Given the description of an element on the screen output the (x, y) to click on. 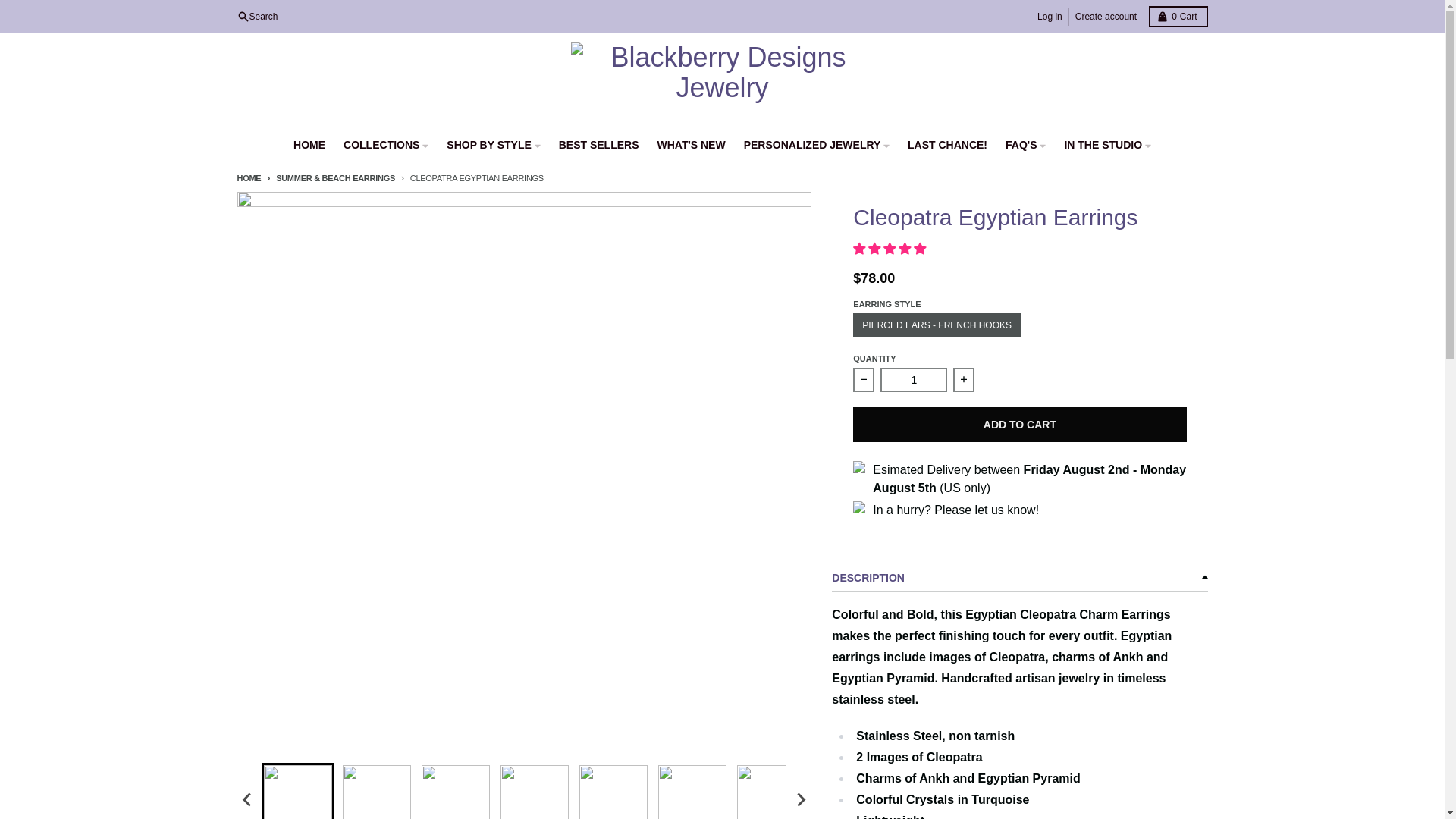
Log in (1049, 16)
Back to the homepage (247, 177)
Search (256, 16)
Create account (1177, 16)
1 (1105, 16)
